Given the description of an element on the screen output the (x, y) to click on. 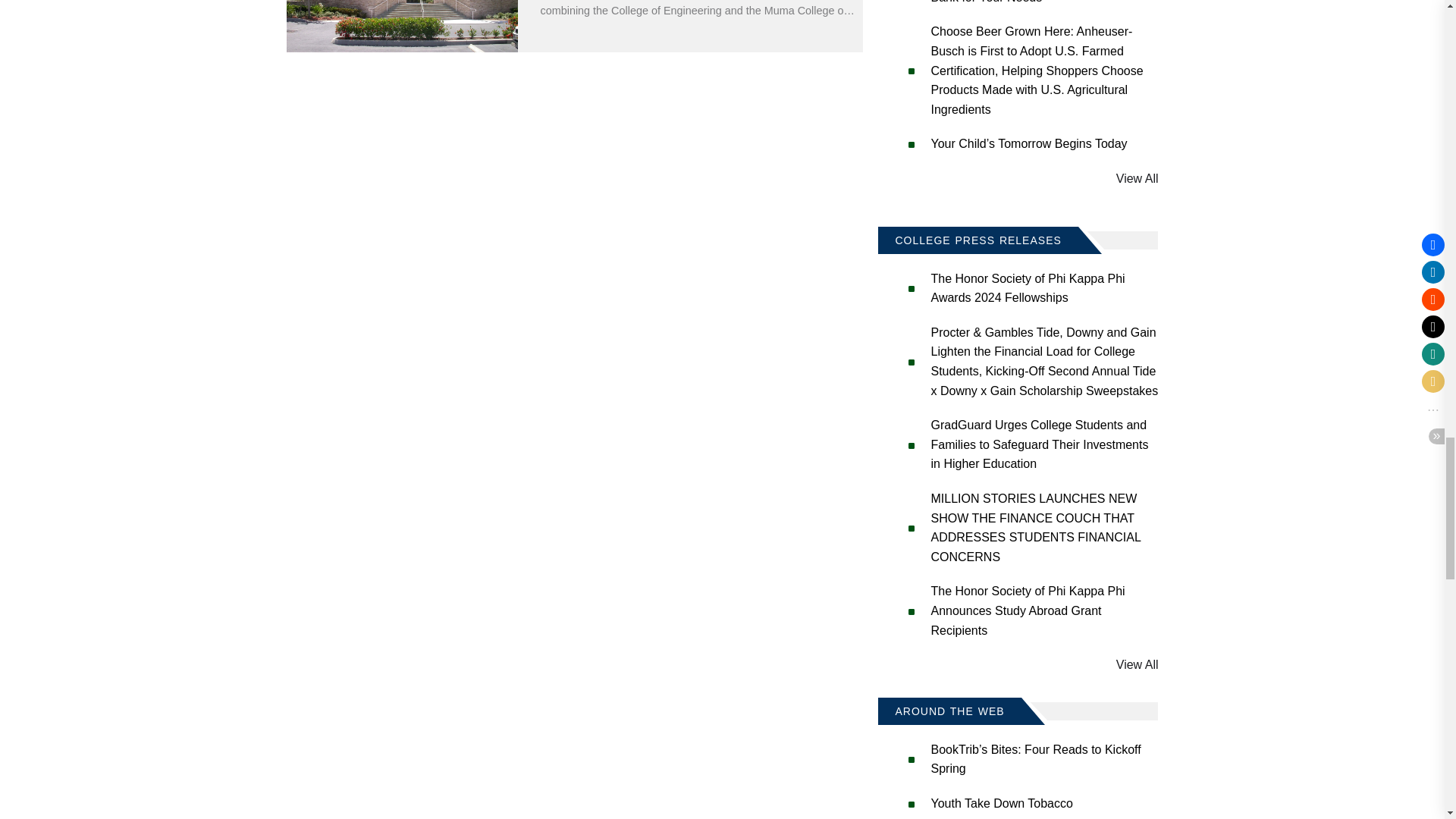
On-campus Jabil institute sparks anticipation from students (402, 26)
